Given the description of an element on the screen output the (x, y) to click on. 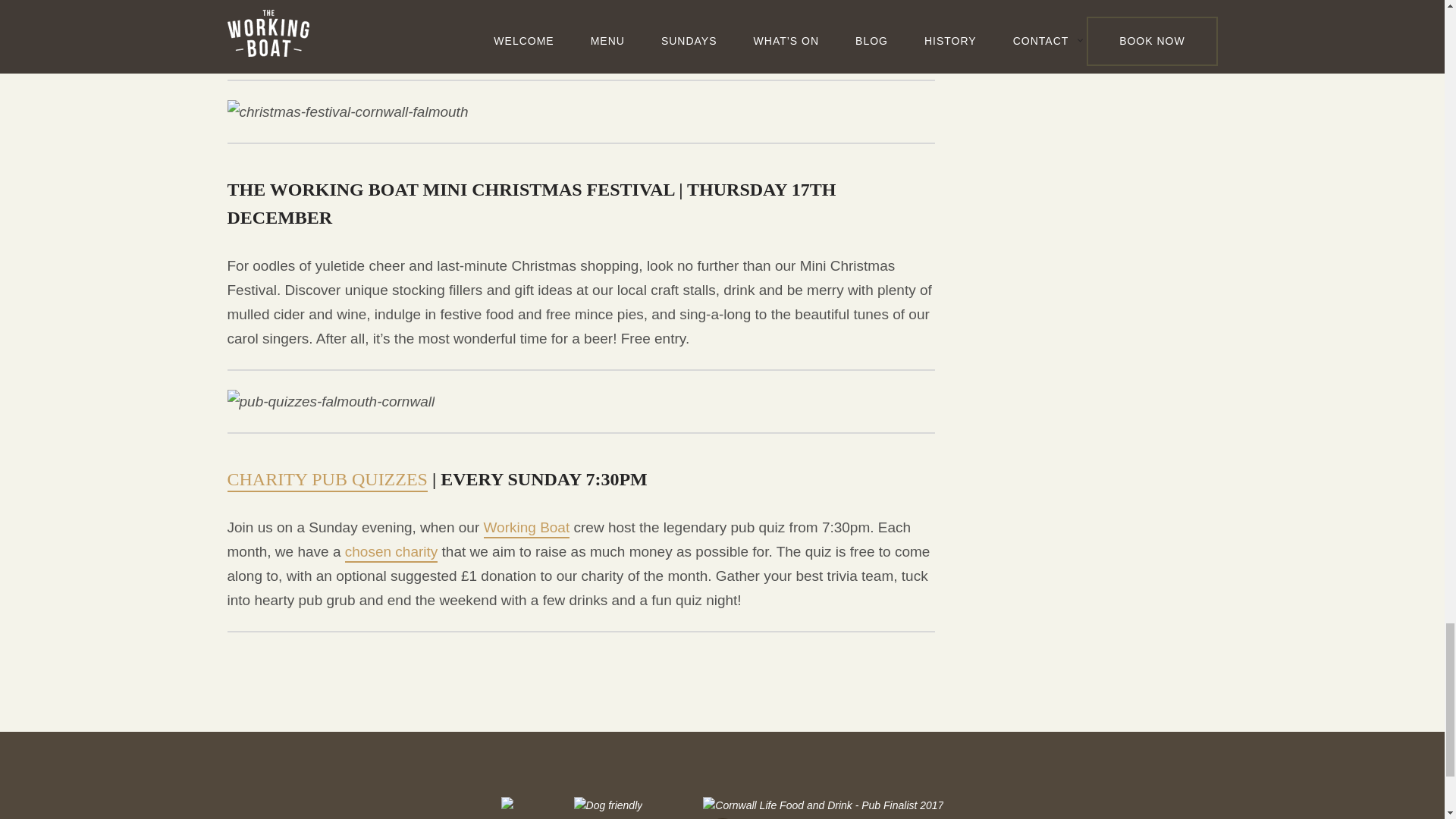
Cornwall Community Foundation (355, 26)
Working Boat (526, 528)
CHARITY PUB QUIZZES (327, 480)
chosen charity (391, 552)
here (734, 49)
